Given the description of an element on the screen output the (x, y) to click on. 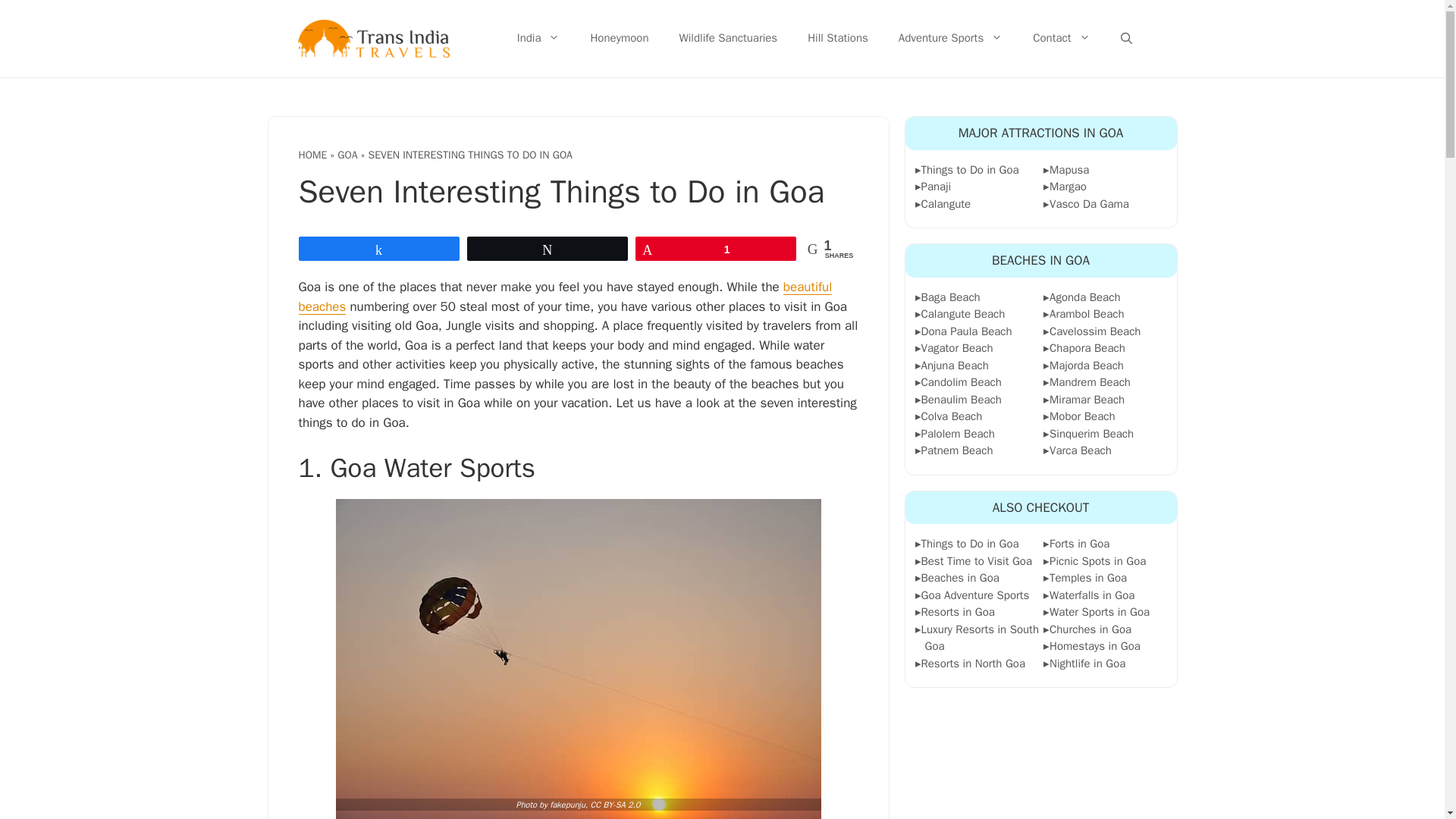
India (538, 38)
